Given the description of an element on the screen output the (x, y) to click on. 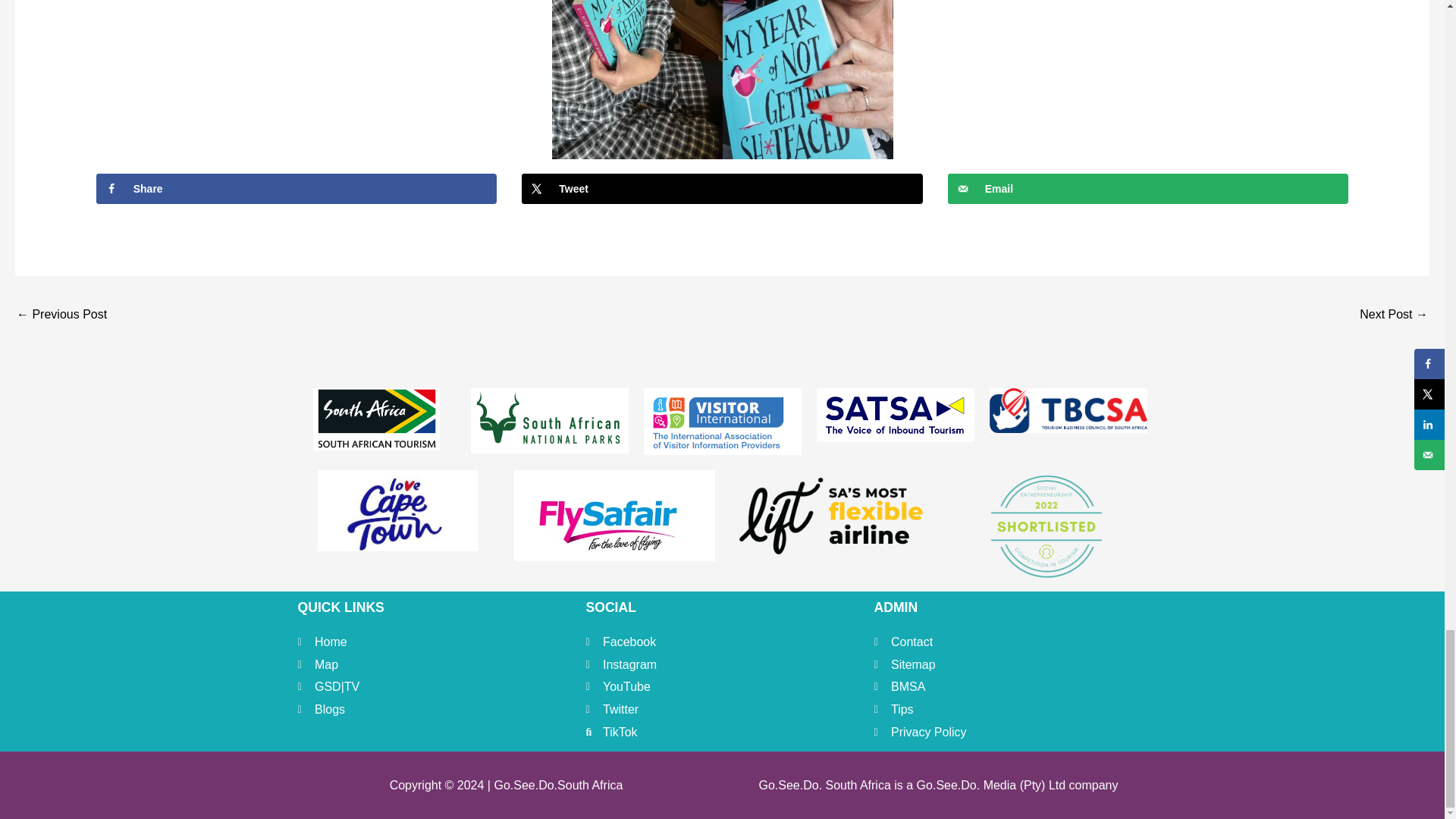
Share on Facebook (296, 188)
Death of a TV Writer (1393, 316)
Share on X (722, 188)
Send over email (1148, 188)
Not Dry, Just Damp (61, 316)
